Given the description of an element on the screen output the (x, y) to click on. 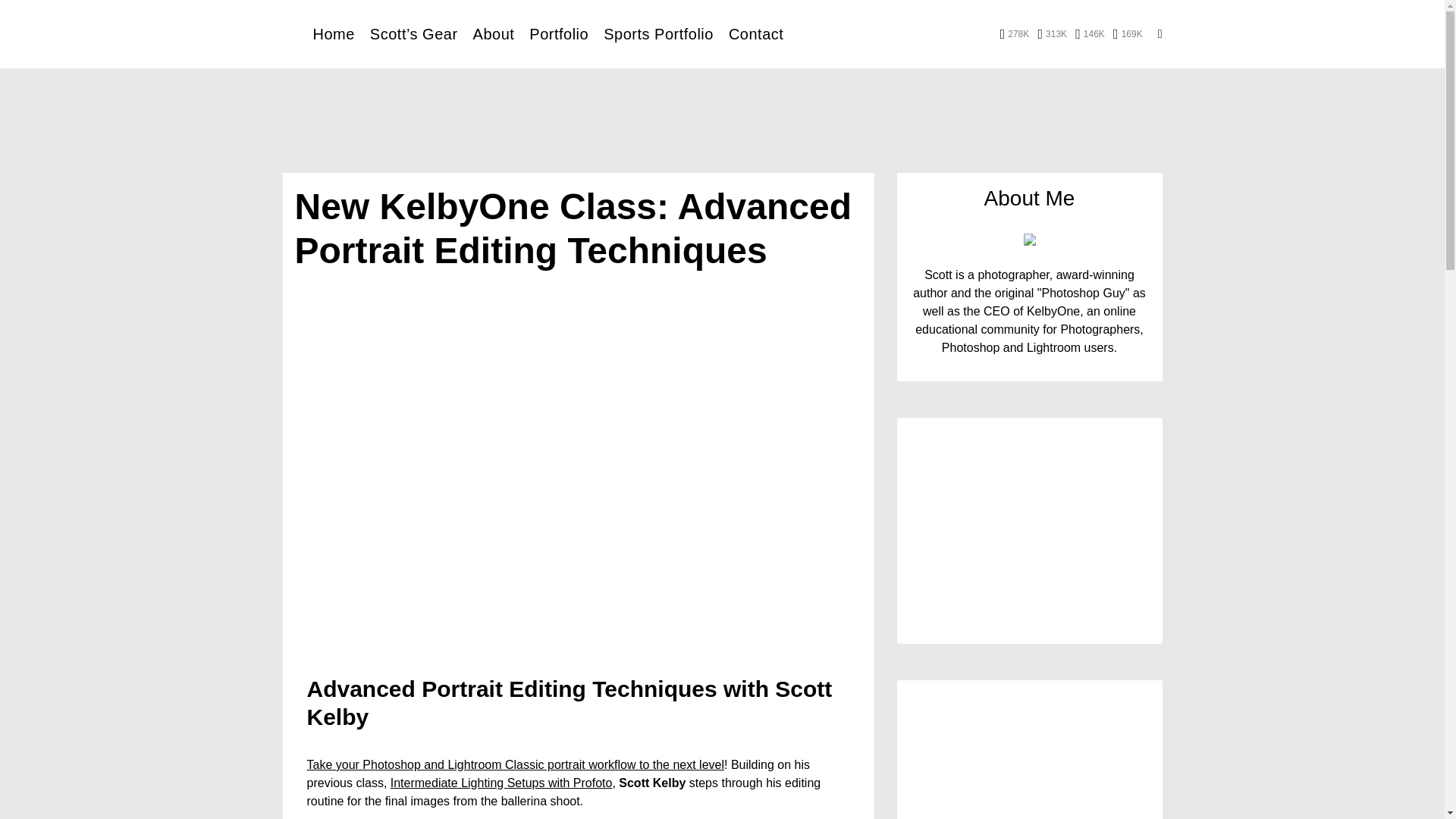
146K (1090, 33)
278K (1014, 33)
169K (1127, 33)
Sports Portfolio (658, 33)
313K (1051, 33)
